Given the description of an element on the screen output the (x, y) to click on. 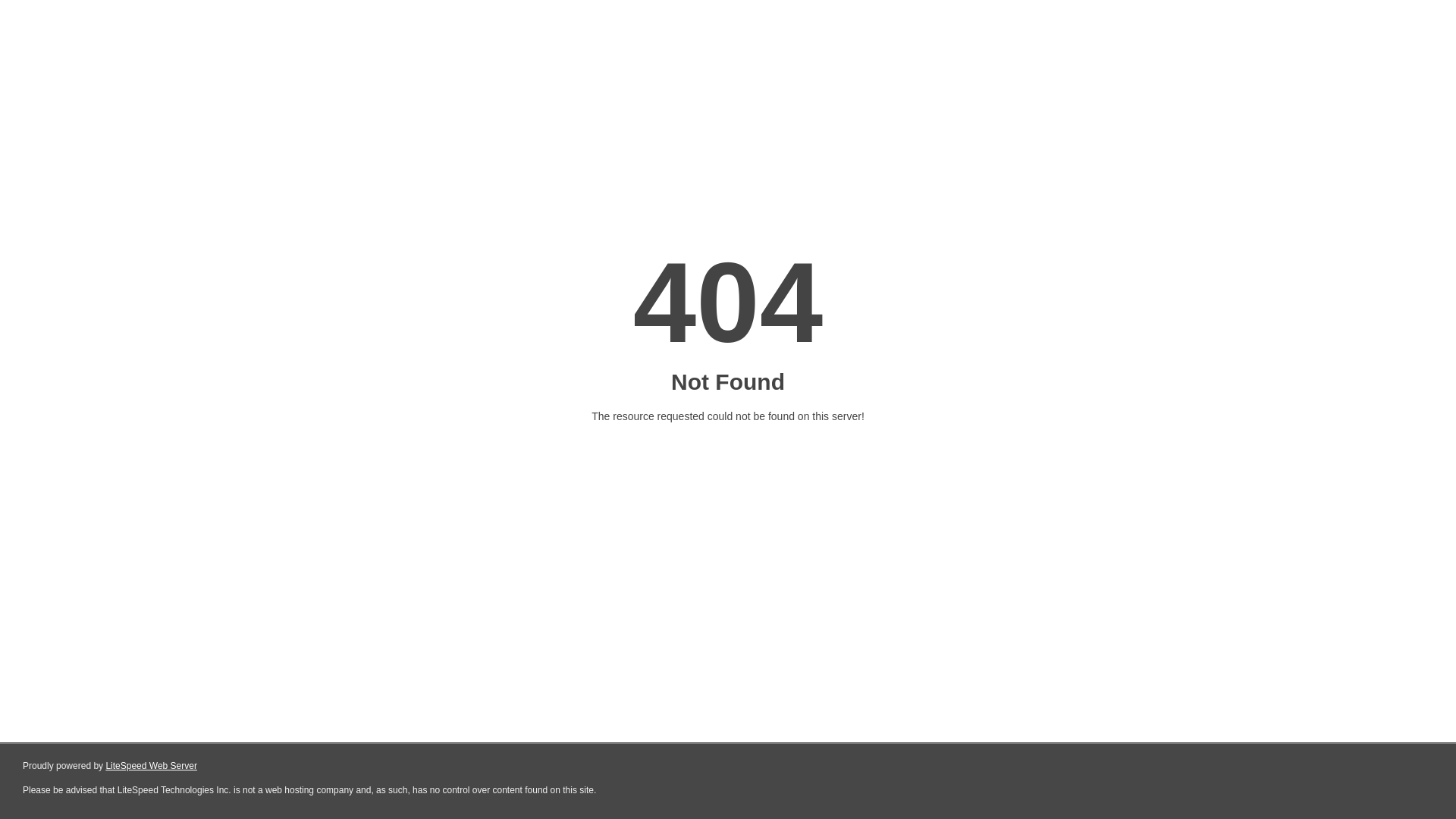
LiteSpeed Web Server Element type: text (151, 765)
